Given the description of an element on the screen output the (x, y) to click on. 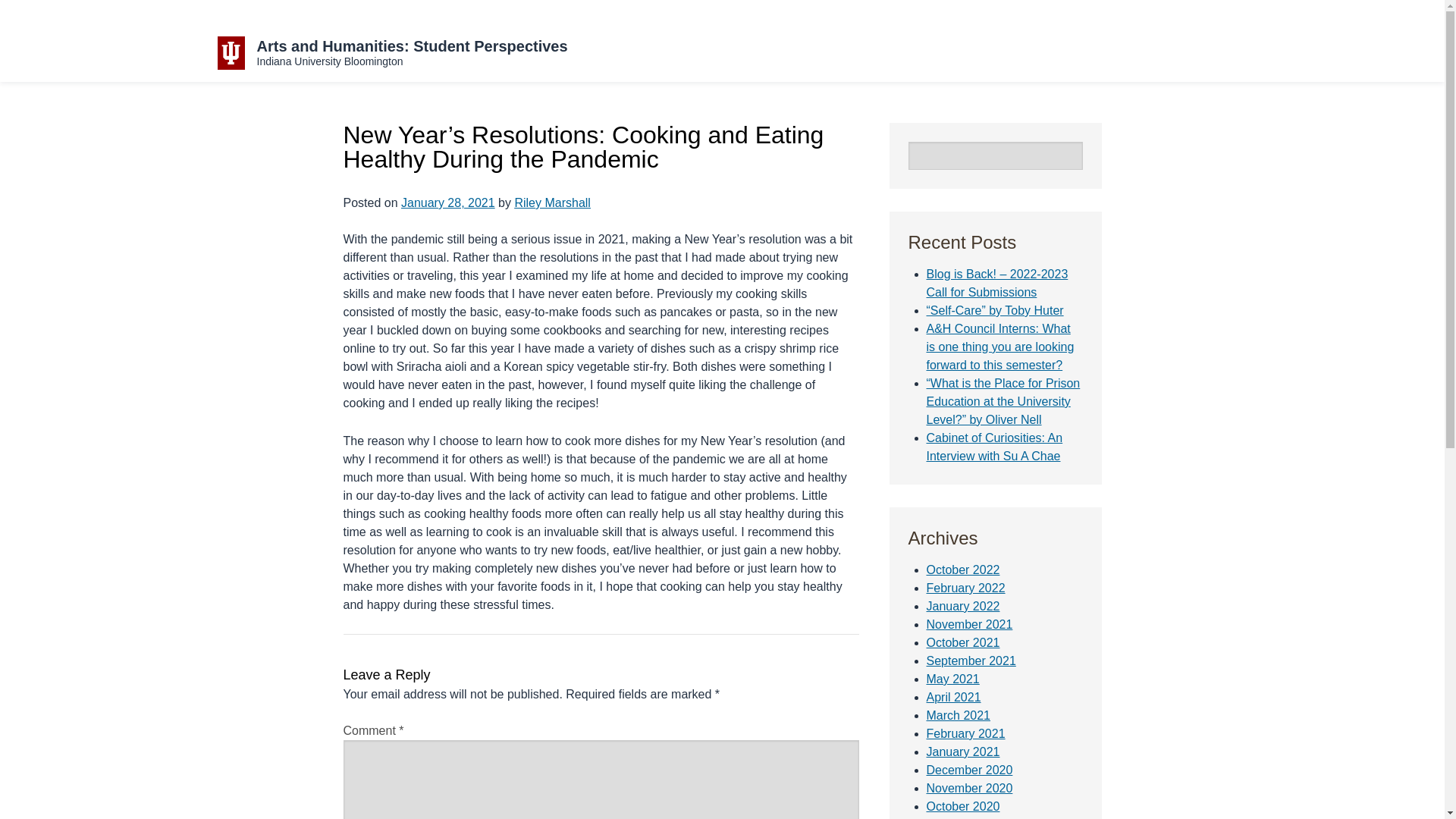
November 2021 (969, 624)
December 2020 (969, 769)
Riley Marshall (551, 202)
January 2022 (963, 605)
October 2022 (963, 569)
Cabinet of Curiosities: An Interview with Su A Chae (994, 446)
October 2020 (963, 806)
January 28, 2021 (448, 202)
September 2021 (971, 660)
February 2021 (966, 733)
April 2021 (953, 697)
February 2022 (966, 587)
November 2020 (969, 788)
October 2021 (963, 642)
